Given the description of an element on the screen output the (x, y) to click on. 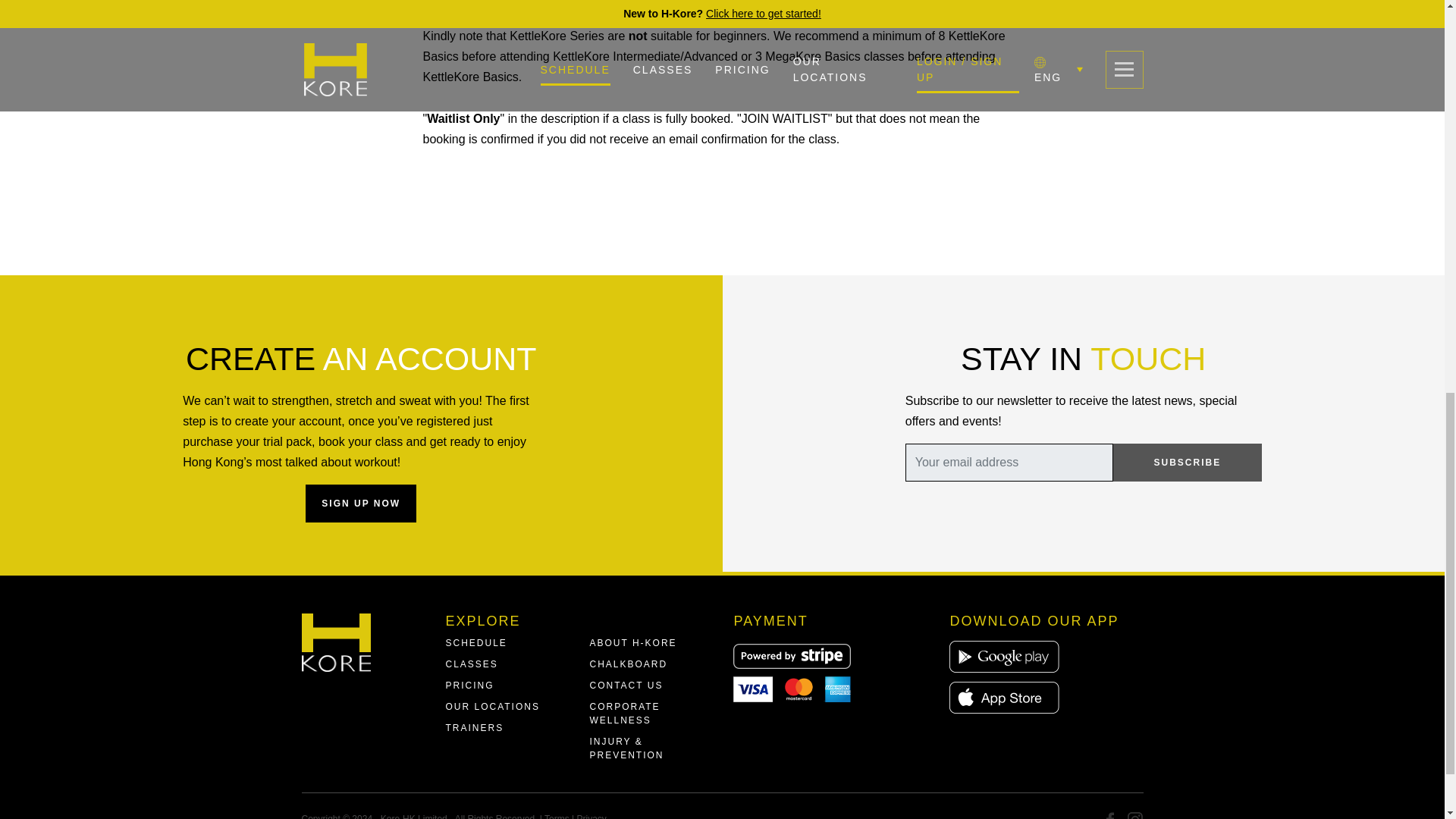
Subscribe (1187, 462)
